Given the description of an element on the screen output the (x, y) to click on. 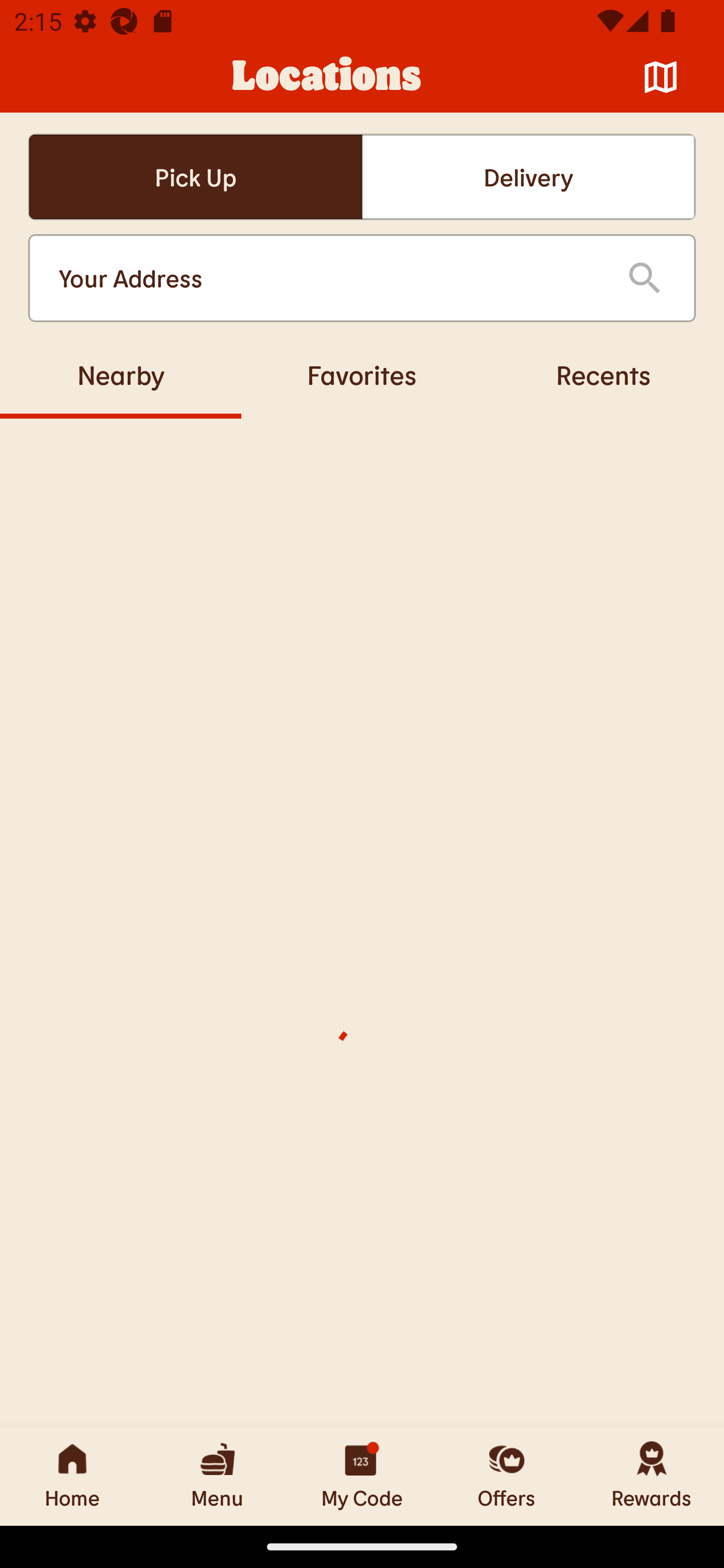
Map 󰦂 (660, 77)
Locations (326, 77)
Pick UpSelected Pick UpSelected Pick Up (195, 176)
Delivery Delivery Delivery (528, 176)
Your Address (327, 277)
Nearby (120, 374)
Favorites (361, 374)
Recents (603, 374)
Home (72, 1475)
Menu (216, 1475)
My Code (361, 1475)
Offers (506, 1475)
Rewards (651, 1475)
